Given the description of an element on the screen output the (x, y) to click on. 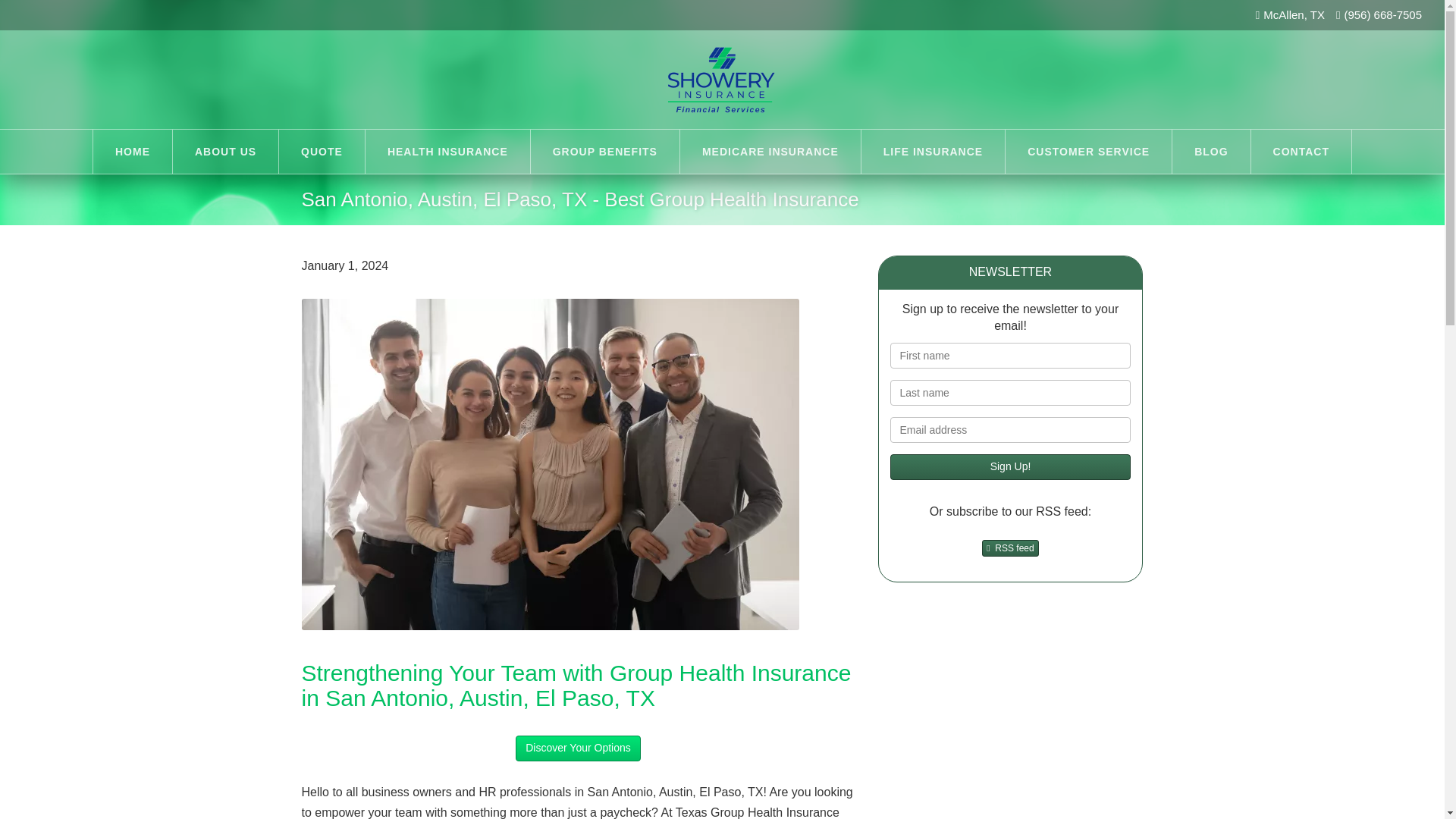
MEDICARE INSURANCE (769, 151)
BLOG (1210, 151)
GROUP BENEFITS (605, 151)
ABOUT US (225, 151)
Discover Your Options (577, 748)
CUSTOMER SERVICE (1089, 151)
QUOTE (322, 151)
Sign Up! (1010, 466)
CONTACT (1300, 151)
HOME (132, 151)
  RSS feed (1009, 547)
Sign Up! (1010, 466)
HEALTH INSURANCE (447, 151)
LIFE INSURANCE (932, 151)
